Given the description of an element on the screen output the (x, y) to click on. 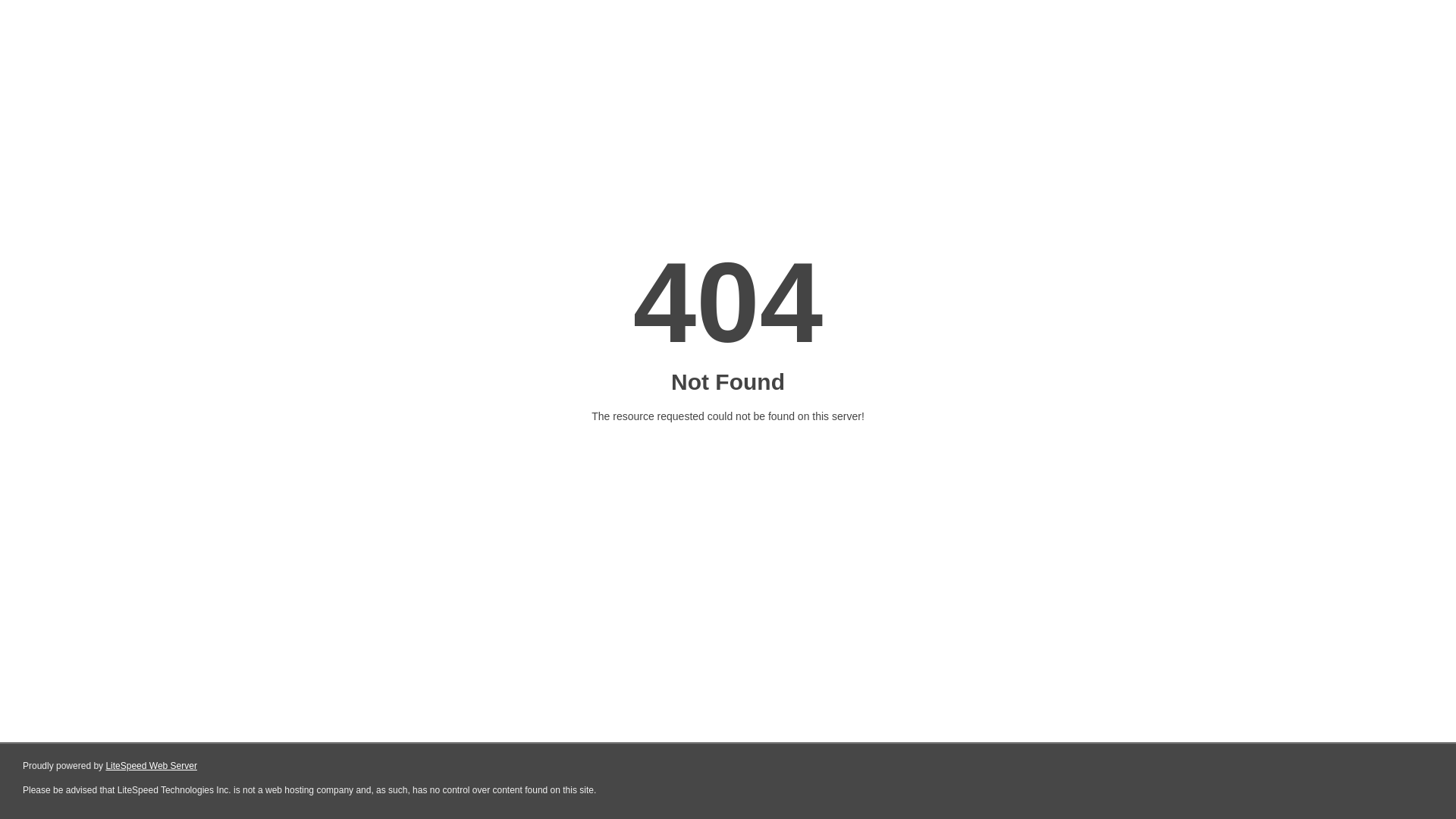
LiteSpeed Web Server Element type: text (151, 765)
